Given the description of an element on the screen output the (x, y) to click on. 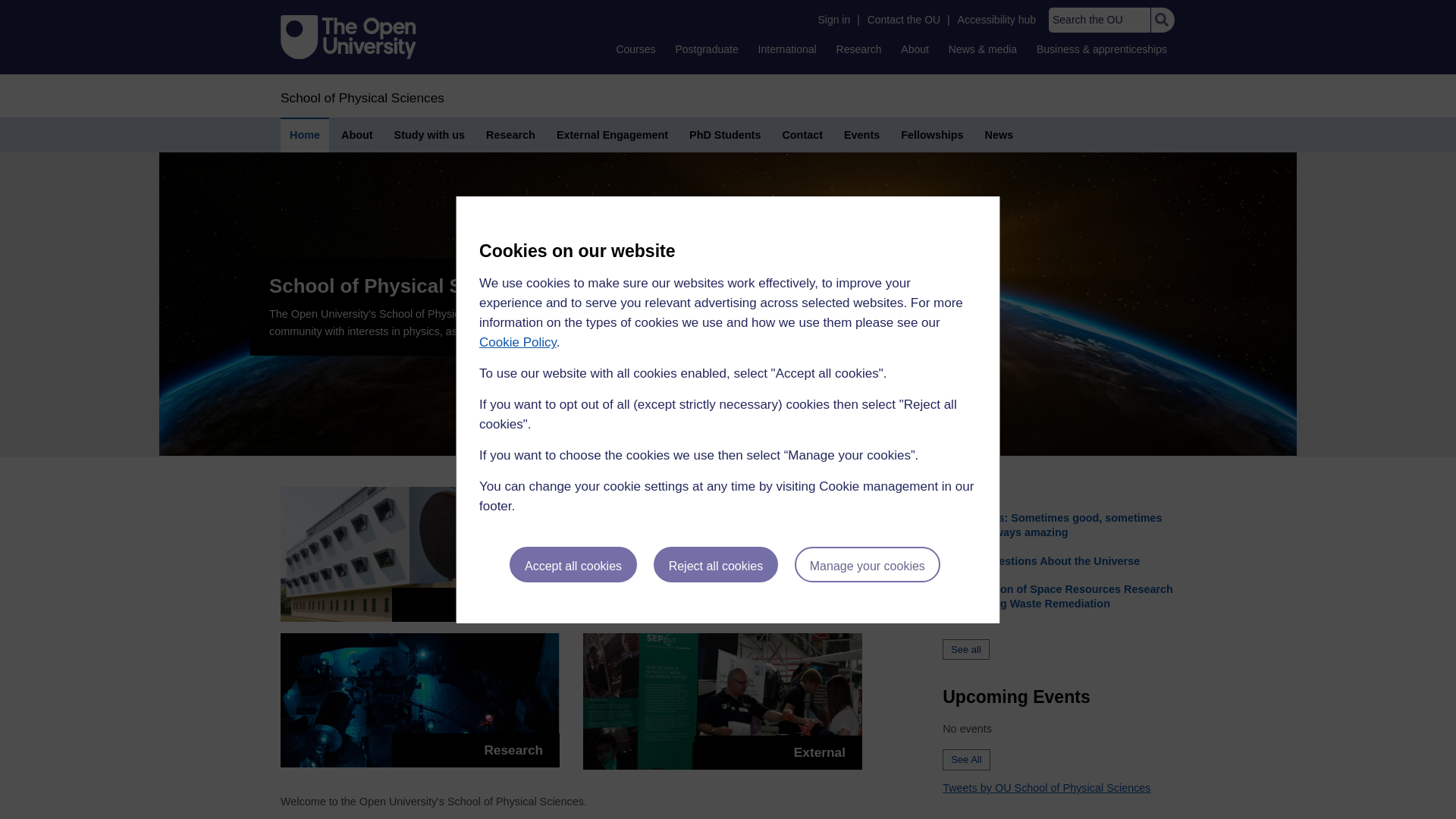
Contact the OU (903, 19)
Research (858, 49)
Sign in (833, 19)
Courses (635, 49)
International (787, 49)
Home (362, 97)
The Open University (348, 36)
Postgraduate (705, 49)
Accessibility hub (997, 19)
About (914, 49)
Accept all cookies (573, 564)
Cookie Policy (517, 341)
Search (1161, 19)
Reject all cookies (715, 564)
